Given the description of an element on the screen output the (x, y) to click on. 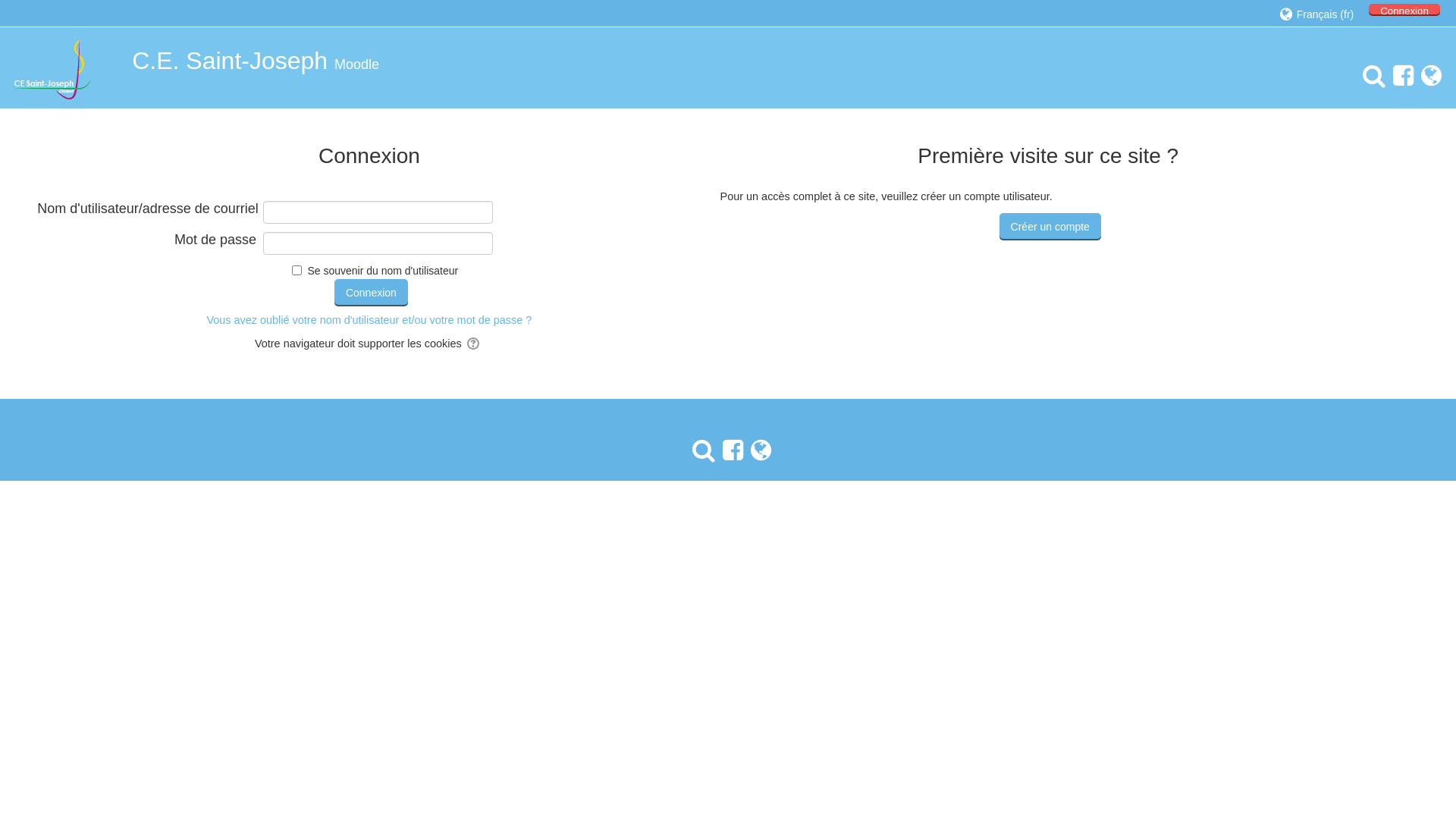
Recherche Element type: hover (1370, 75)
Connexion Element type: text (1404, 9)
Facebook Element type: hover (729, 450)
Connexion Element type: text (370, 292)
Aide sur Votre navigateur doit supporter les cookies Element type: hover (473, 343)
Recherche Element type: hover (699, 450)
Site Web Element type: hover (757, 450)
Facebook Element type: hover (1399, 75)
Site Web Element type: hover (1427, 75)
